Given the description of an element on the screen output the (x, y) to click on. 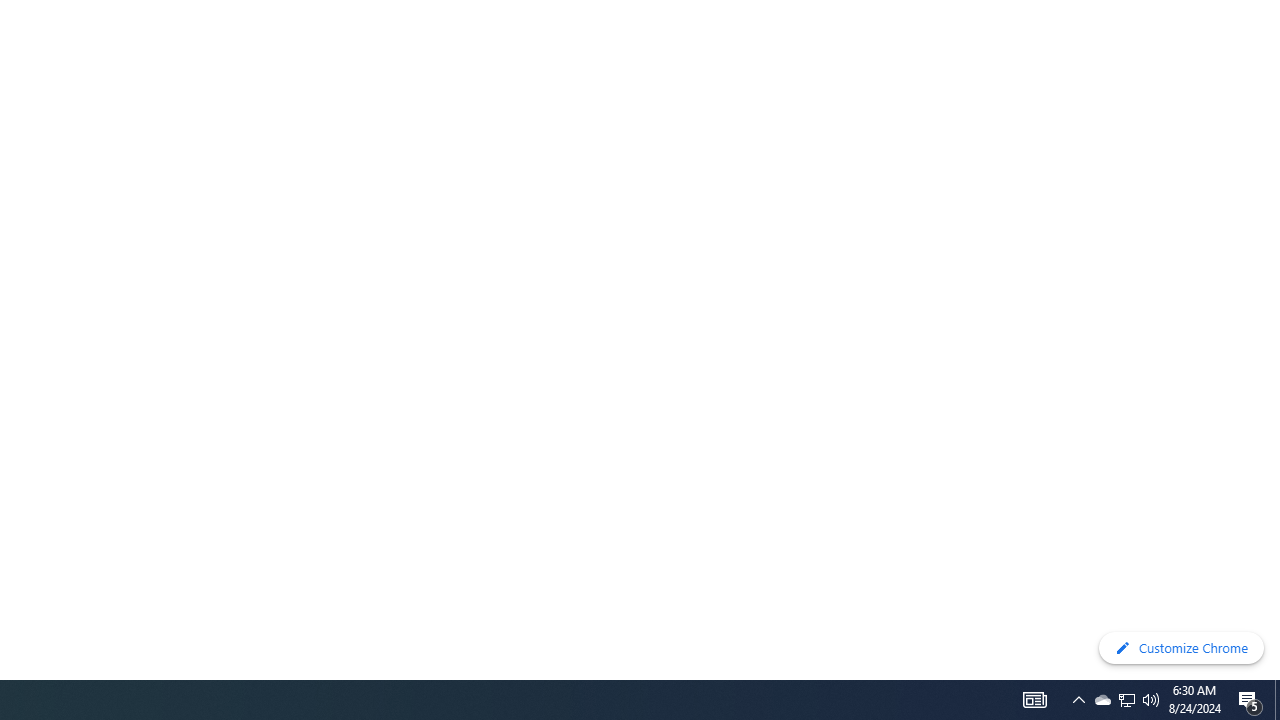
Customize Chrome (1181, 647)
